Given the description of an element on the screen output the (x, y) to click on. 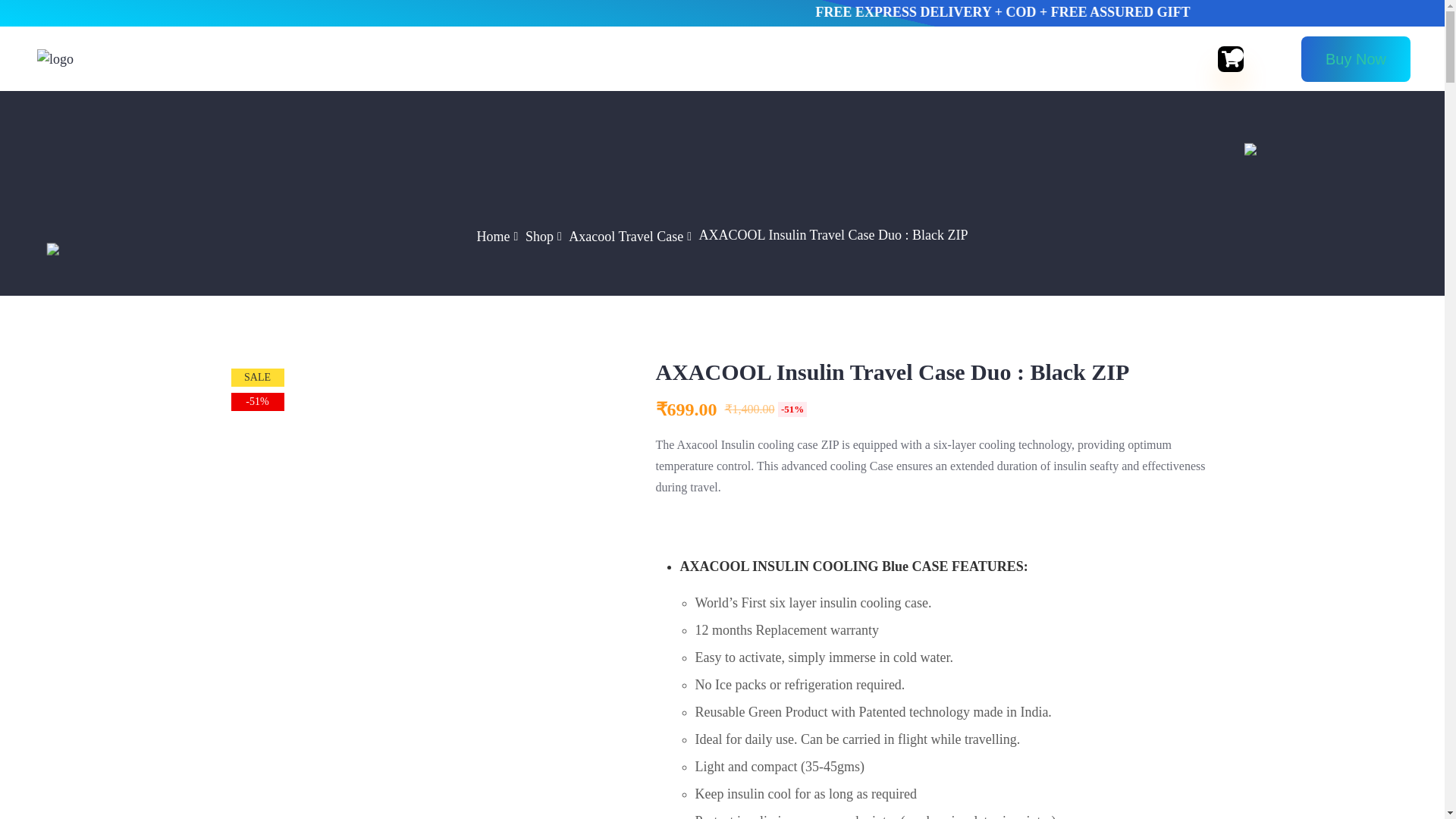
B2B (580, 58)
0 (1230, 58)
Home (494, 236)
Home (521, 58)
Contact Us (908, 58)
FAQ (778, 58)
Axacool Travel Case (625, 236)
About Us (650, 58)
Shop (722, 58)
Blog (832, 58)
